Given the description of an element on the screen output the (x, y) to click on. 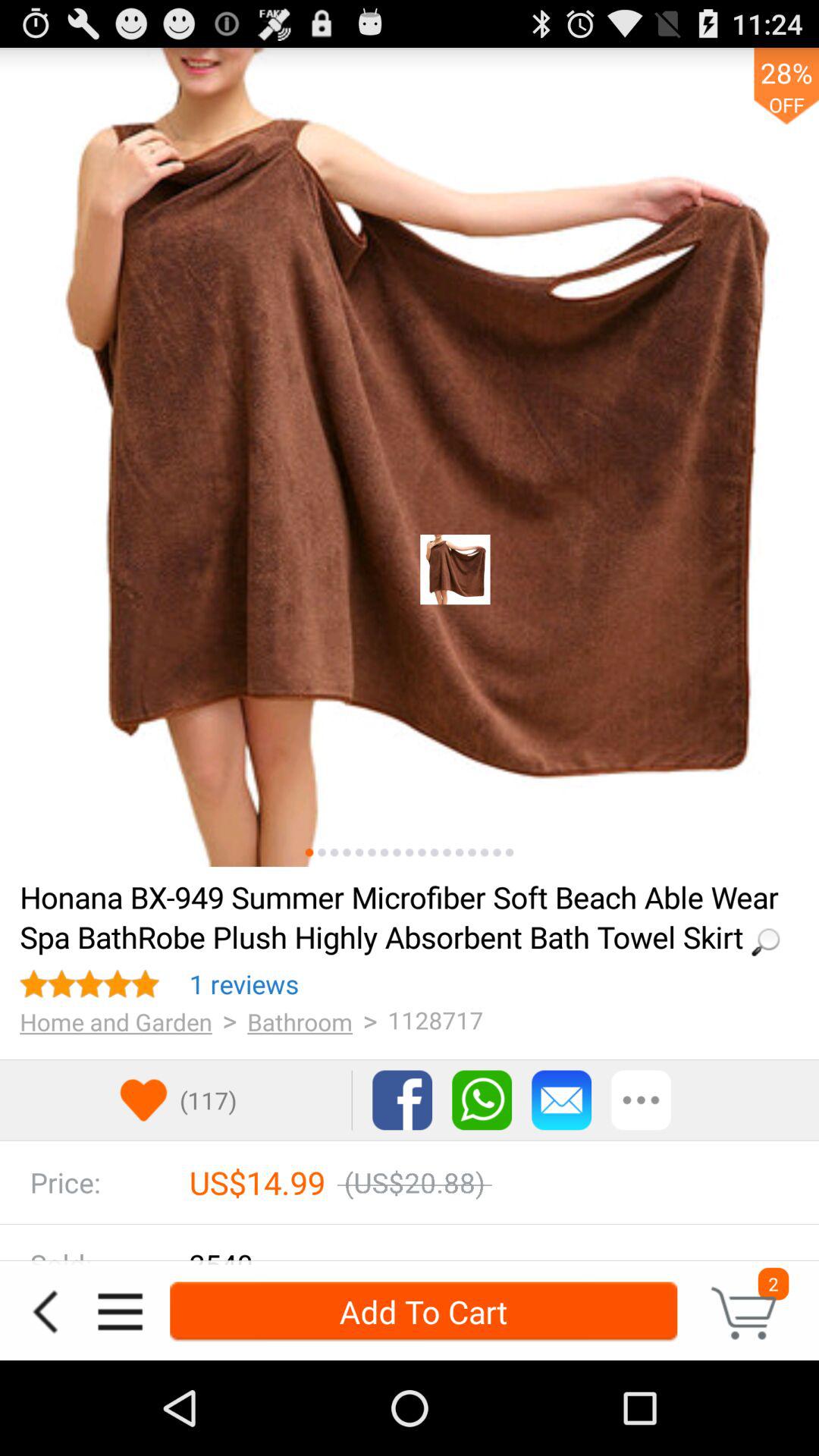
see sixth image (371, 852)
